Given the description of an element on the screen output the (x, y) to click on. 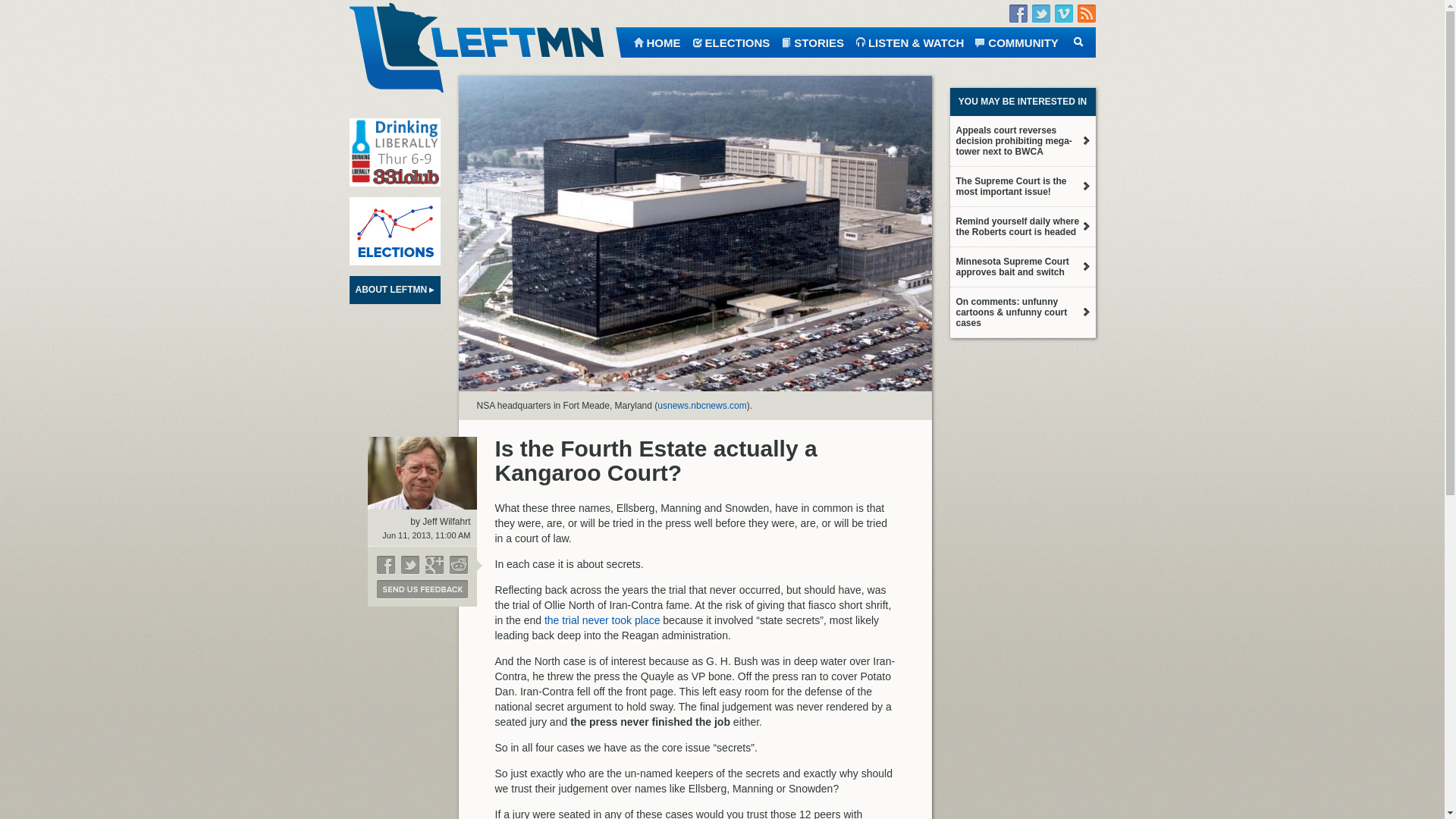
Facebook (1017, 13)
Drinking Liberally Minneapolis (394, 151)
HOME (655, 41)
STORIES (812, 41)
Remind yourself daily where the Roberts court is headed (1021, 226)
Vimeo (1062, 13)
Twitter (1039, 13)
the trial never took place (602, 620)
The Supreme Court is the most important issue! (1021, 186)
LeftMN Elections Site (394, 231)
